Given the description of an element on the screen output the (x, y) to click on. 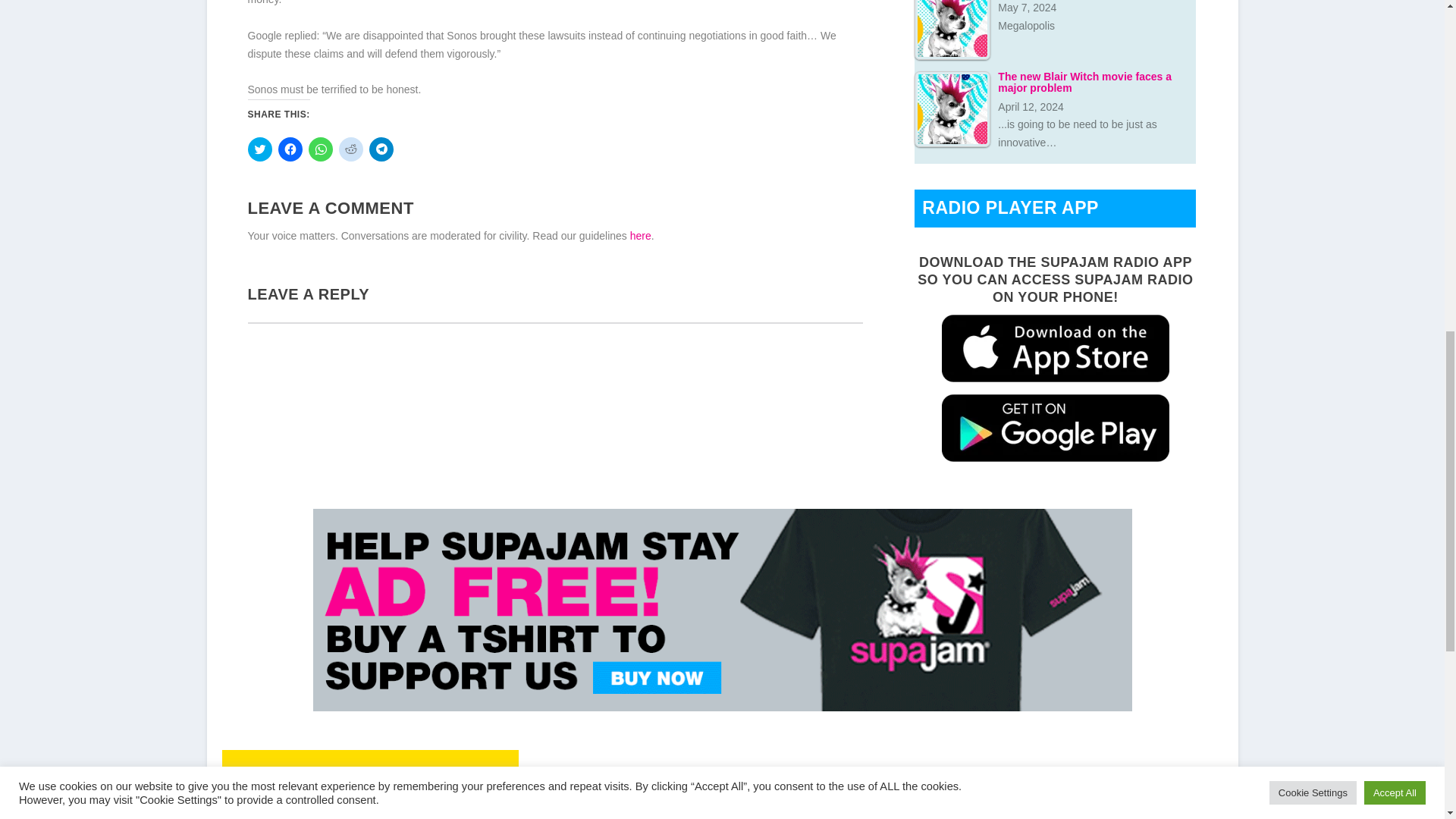
Click to share on WhatsApp (319, 149)
Click to share on Facebook (289, 149)
The new Blair Witch movie faces a major problem (952, 109)
Click to share on Telegram (380, 149)
Click to share on Reddit (349, 149)
Click to share on Twitter (258, 149)
The teaser for Megalopolis is top notch (952, 29)
